Given the description of an element on the screen output the (x, y) to click on. 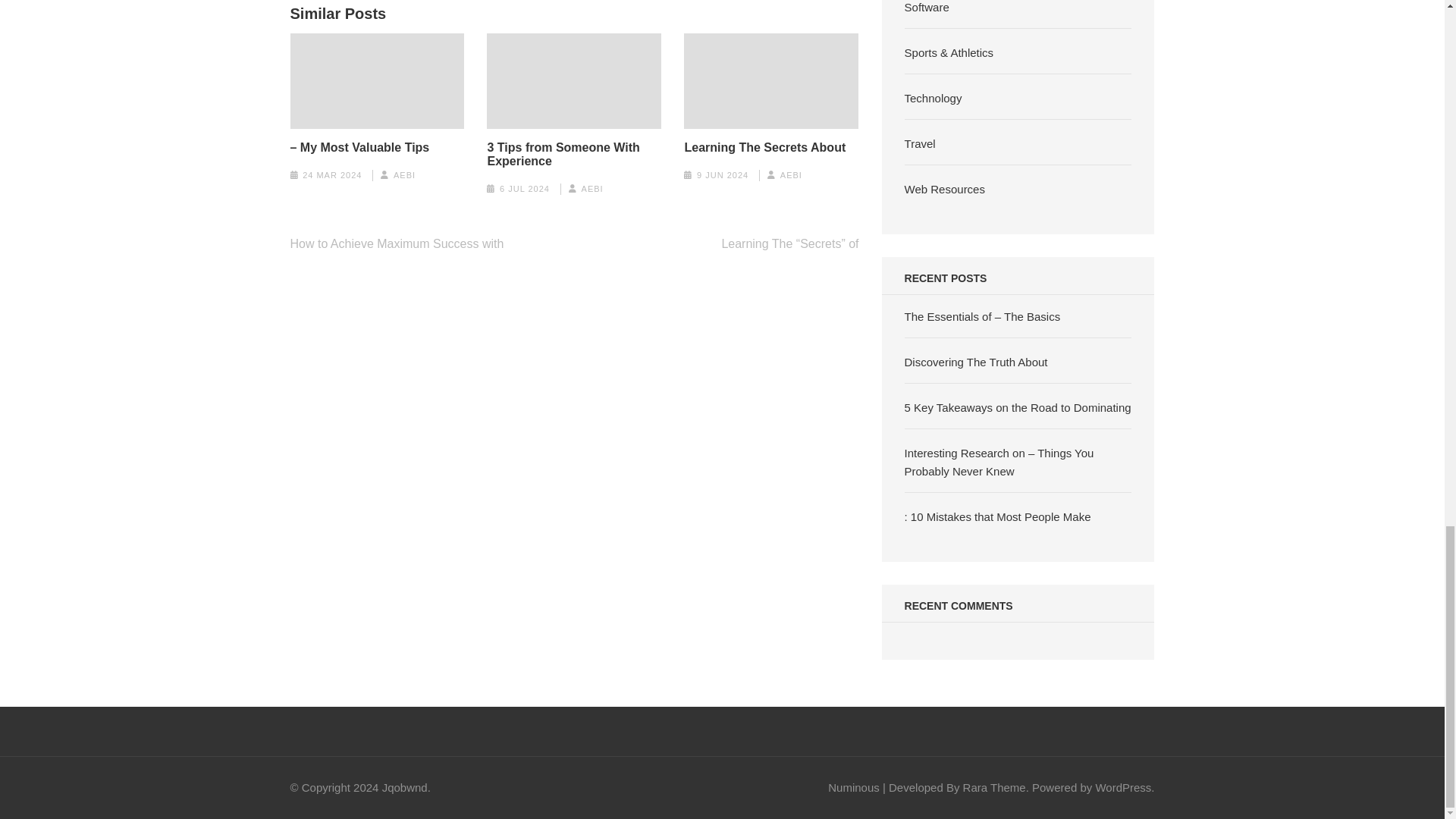
24 MAR 2024 (331, 174)
How to Achieve Maximum Success with (396, 243)
AEBI (403, 174)
AEBI (592, 188)
AEBI (791, 174)
Learning The Secrets About (764, 147)
3 Tips from Someone With Experience (573, 154)
6 JUL 2024 (524, 188)
9 JUN 2024 (722, 174)
